Given the description of an element on the screen output the (x, y) to click on. 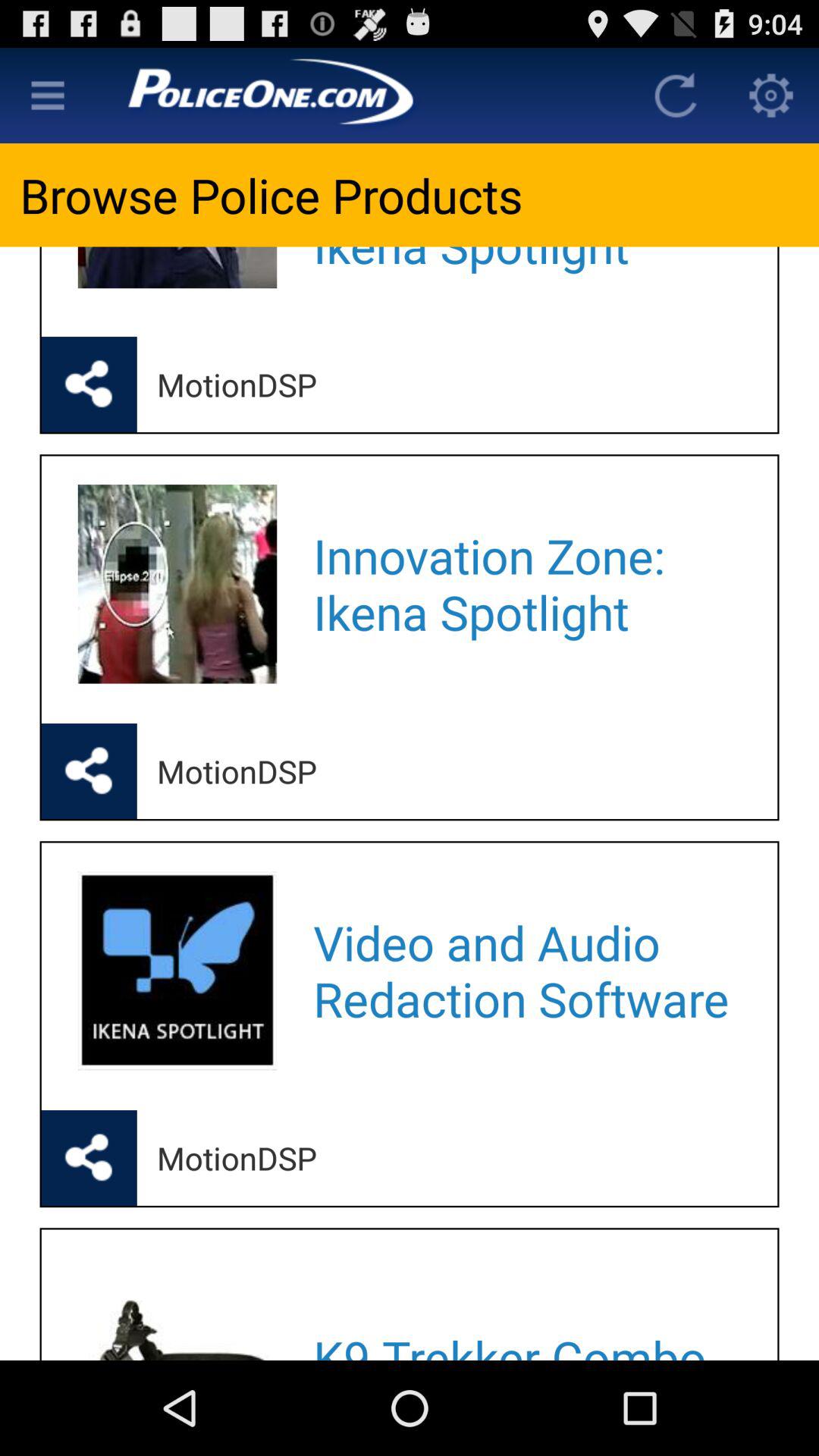
share the article (89, 771)
